Given the description of an element on the screen output the (x, y) to click on. 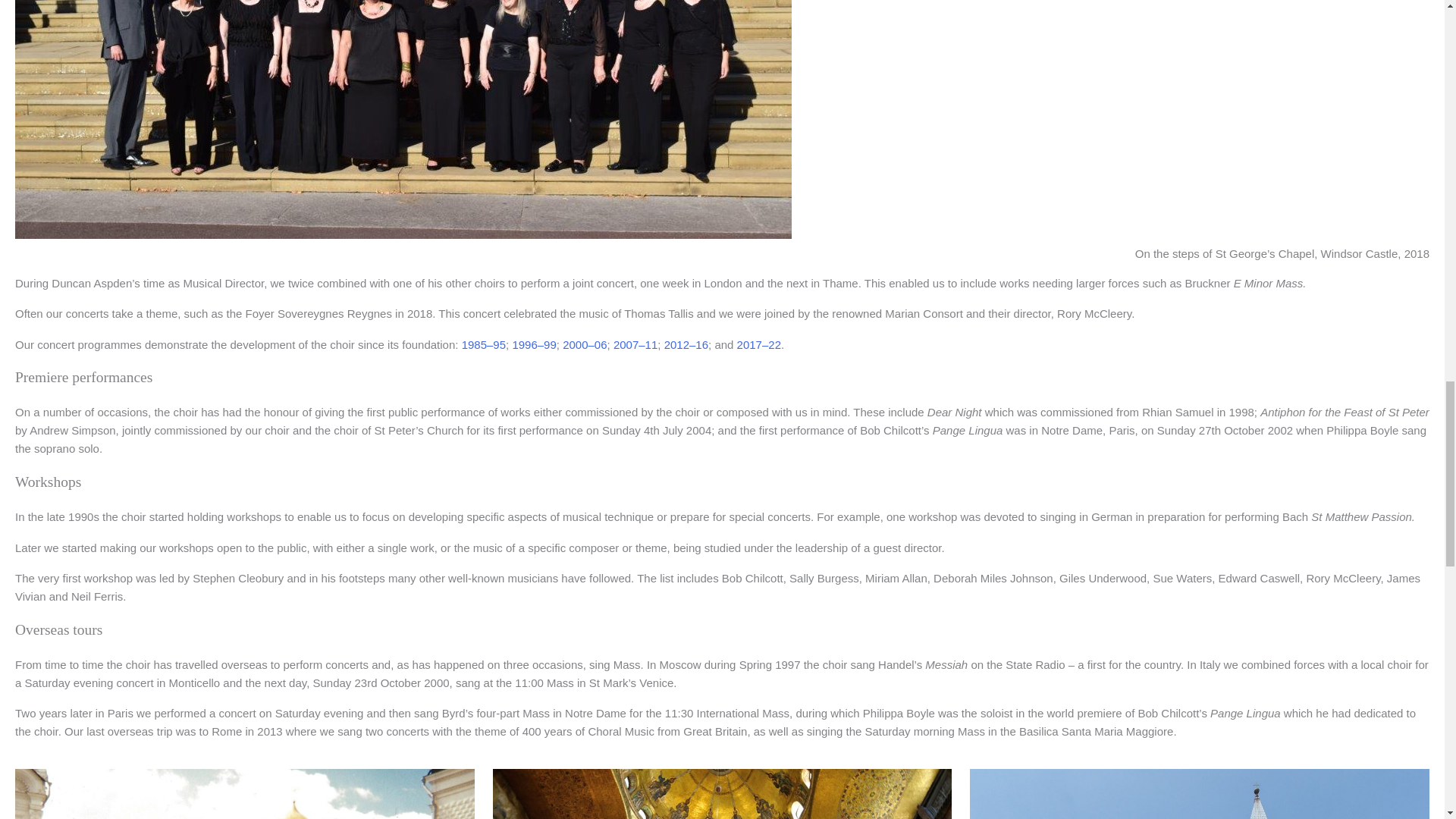
2007 (625, 344)
